Given the description of an element on the screen output the (x, y) to click on. 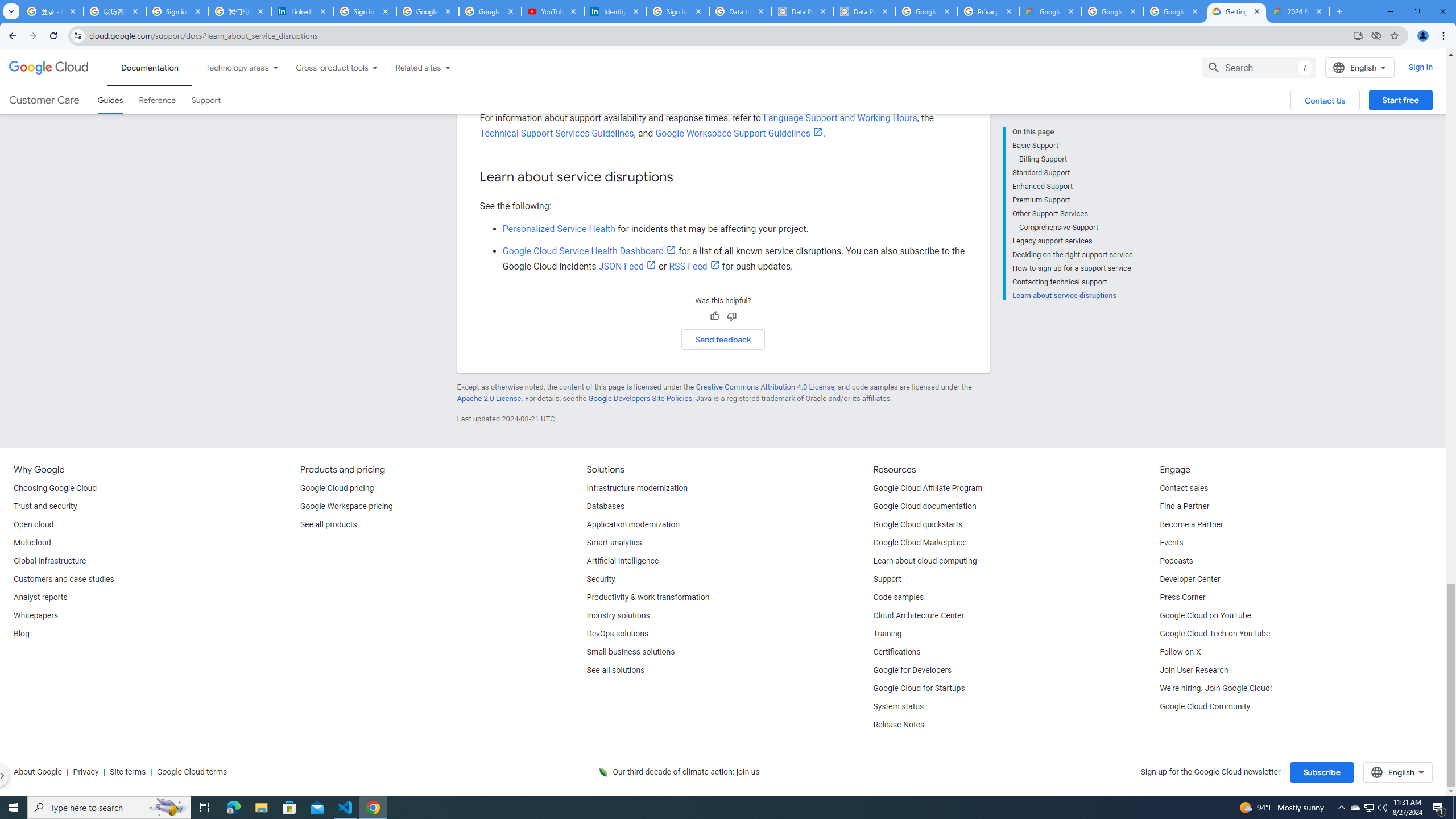
Google Cloud Affiliate Program (927, 488)
Open cloud (33, 524)
DevOps solutions (617, 633)
Google Cloud Service Health Dashboard (588, 250)
Helpful (714, 316)
Databases (605, 506)
Google Cloud on YouTube (1204, 615)
Google Cloud pricing (336, 488)
Reference (157, 99)
Google Workspace pricing (346, 506)
Global infrastructure (49, 561)
Not helpful (731, 316)
